Given the description of an element on the screen output the (x, y) to click on. 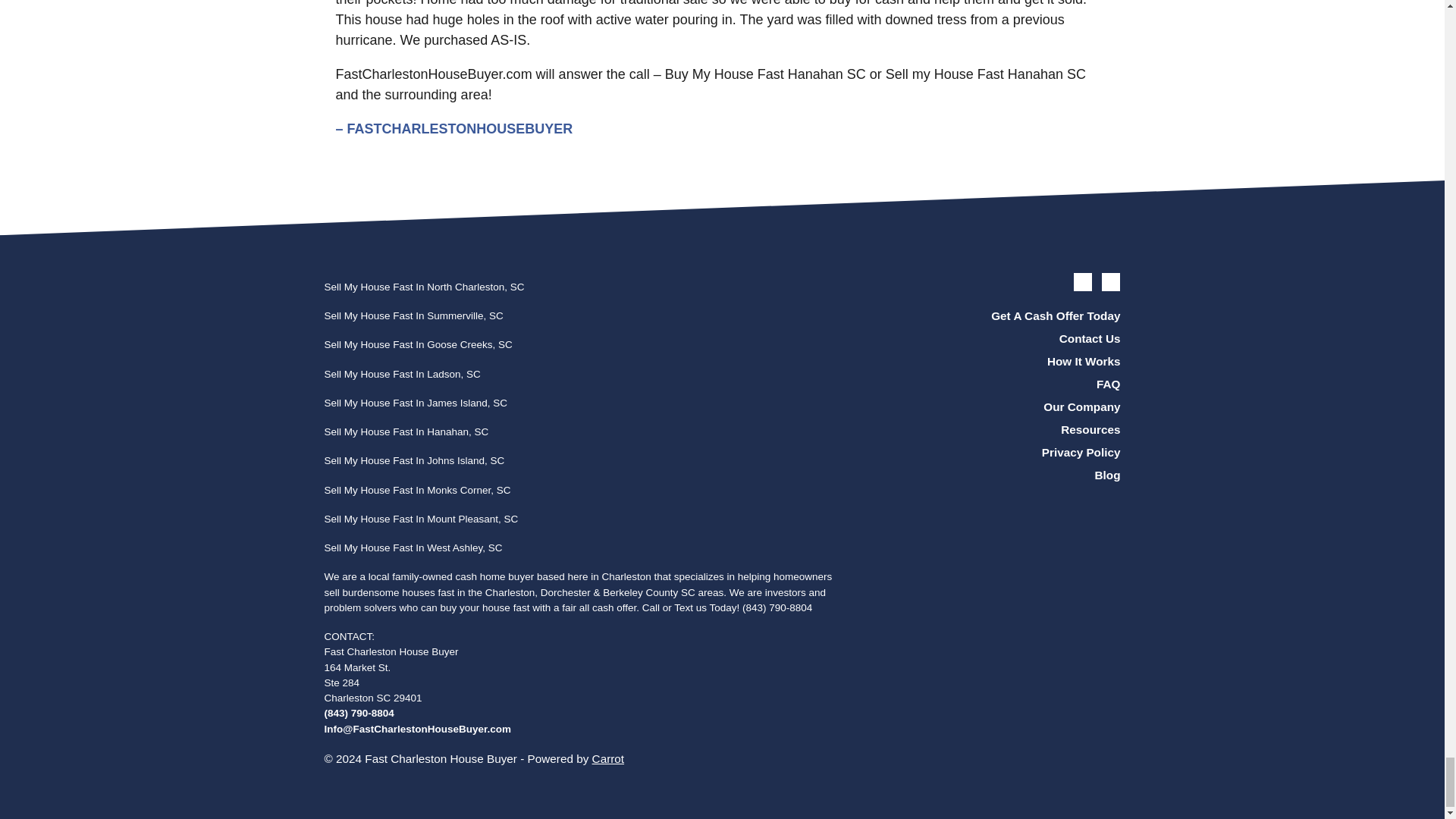
Resources (995, 430)
Contact Us (995, 338)
FAQ (995, 384)
Sell My House Fast In Summerville, SC (413, 315)
Our Company (995, 406)
Sell My House Fast In Ladson, SC (402, 374)
Sell My House Fast In Mount Pleasant, SC (421, 518)
Sell My House Fast In Johns Island, SC (414, 460)
Sell My House Fast In James Island, SC (416, 402)
Get A Cash Offer Today (995, 315)
